Given the description of an element on the screen output the (x, y) to click on. 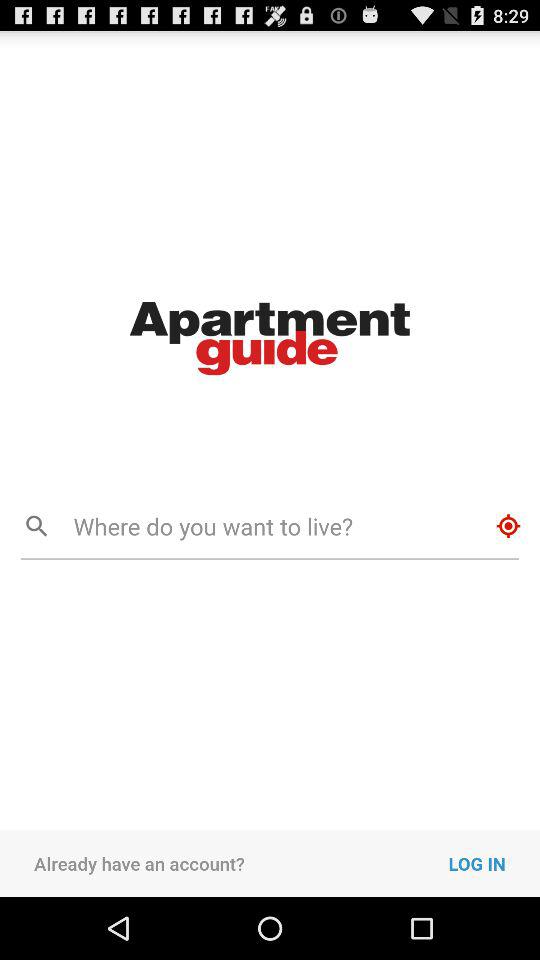
launch icon to the right of where do you (508, 525)
